Given the description of an element on the screen output the (x, y) to click on. 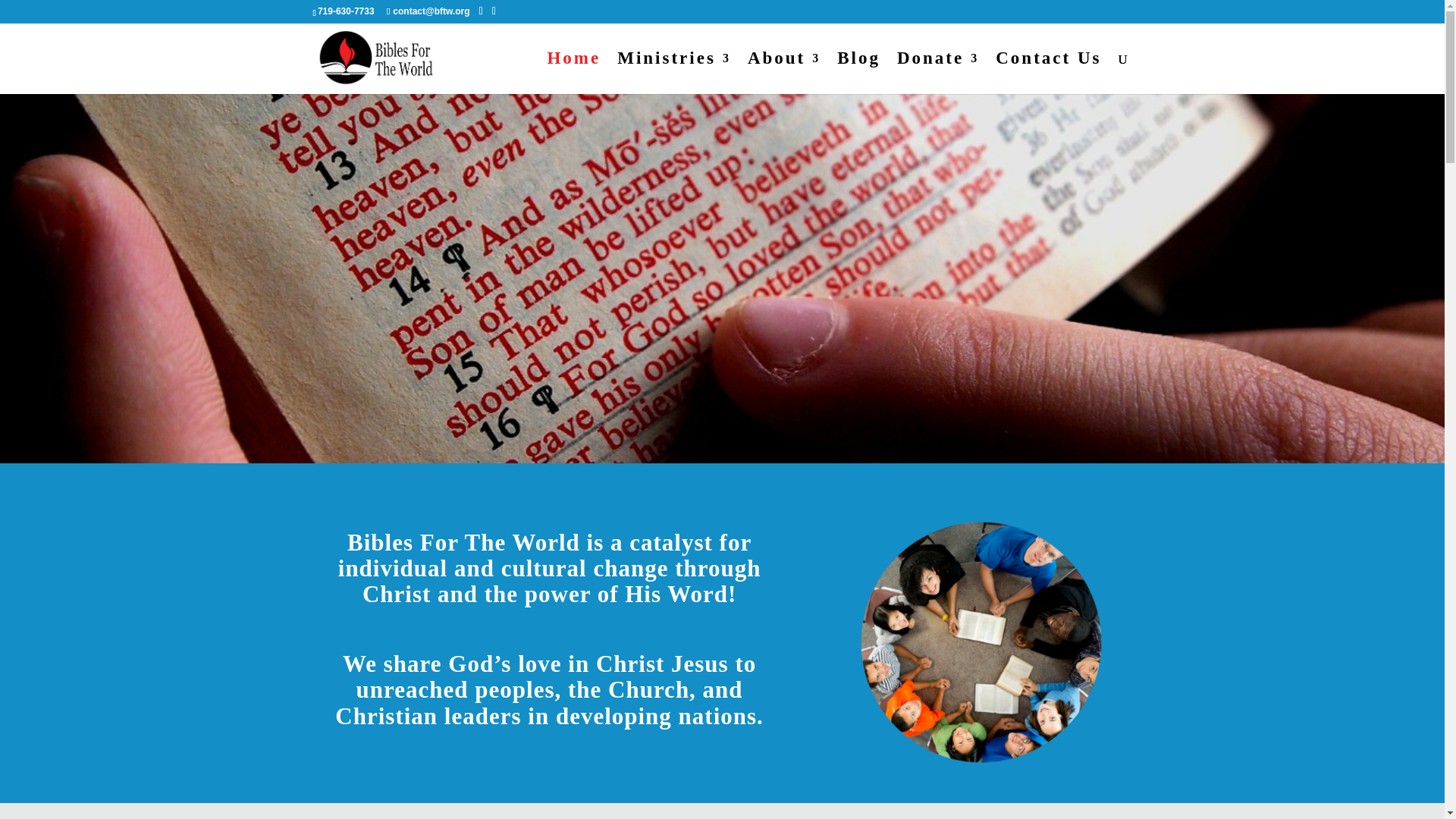
Blog (858, 73)
Home (573, 73)
About (784, 73)
Donate (937, 73)
Contact Us (1047, 73)
Ministries (673, 73)
22 (981, 642)
